Given the description of an element on the screen output the (x, y) to click on. 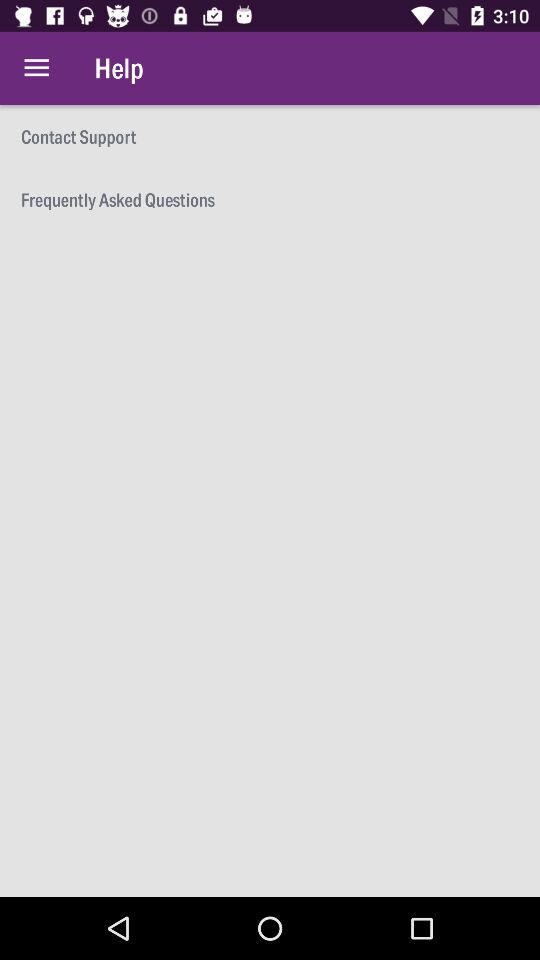
scroll until the frequently asked questions (270, 198)
